Given the description of an element on the screen output the (x, y) to click on. 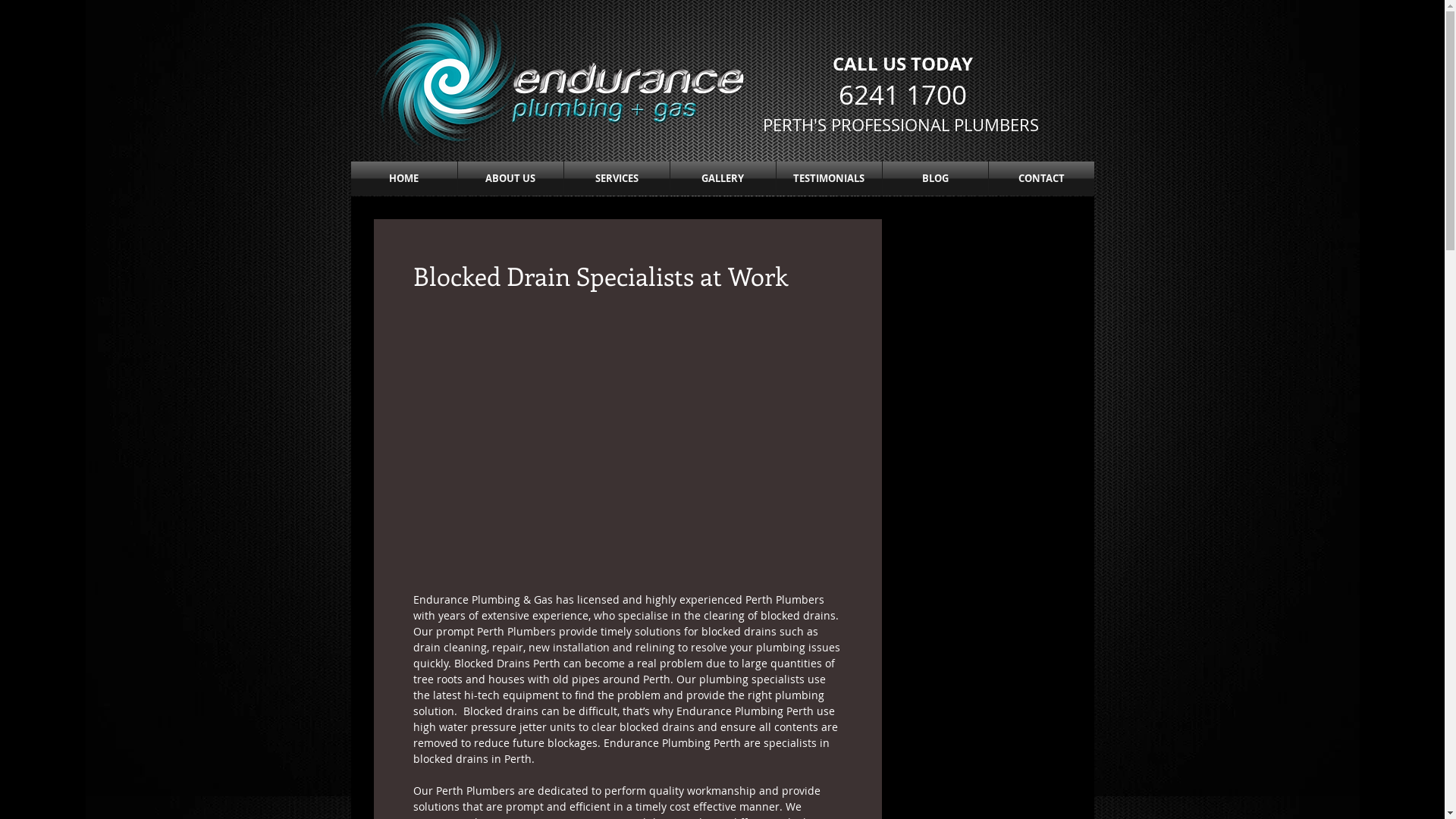
ABOUT US Element type: text (510, 178)
Boss Logo (1).png Element type: hover (561, 78)
HOME Element type: text (403, 178)
BLOG Element type: text (935, 178)
CONTACT Element type: text (1041, 178)
TESTIMONIALS Element type: text (828, 178)
